Given the description of an element on the screen output the (x, y) to click on. 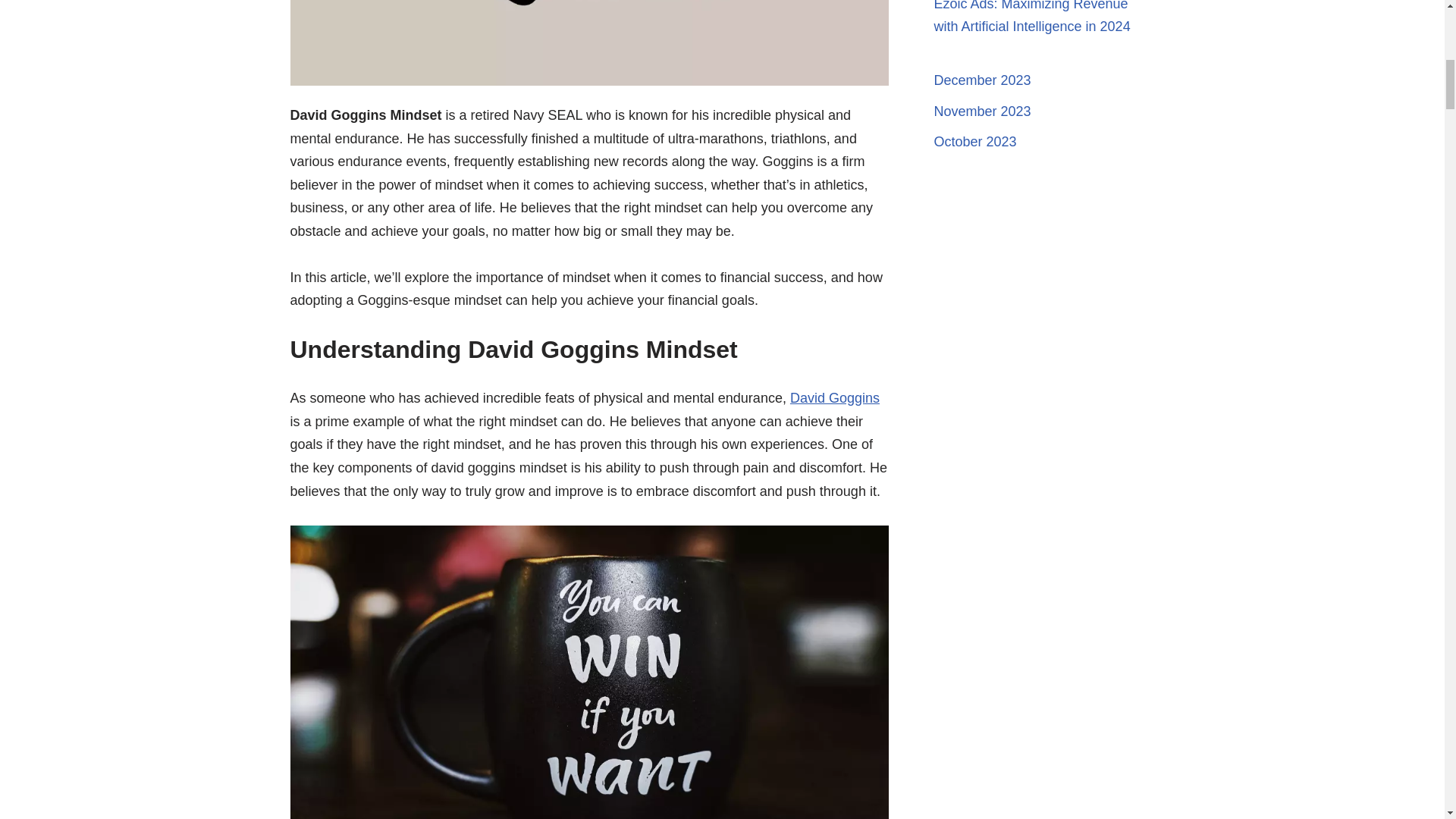
David Goggins (834, 397)
